Given the description of an element on the screen output the (x, y) to click on. 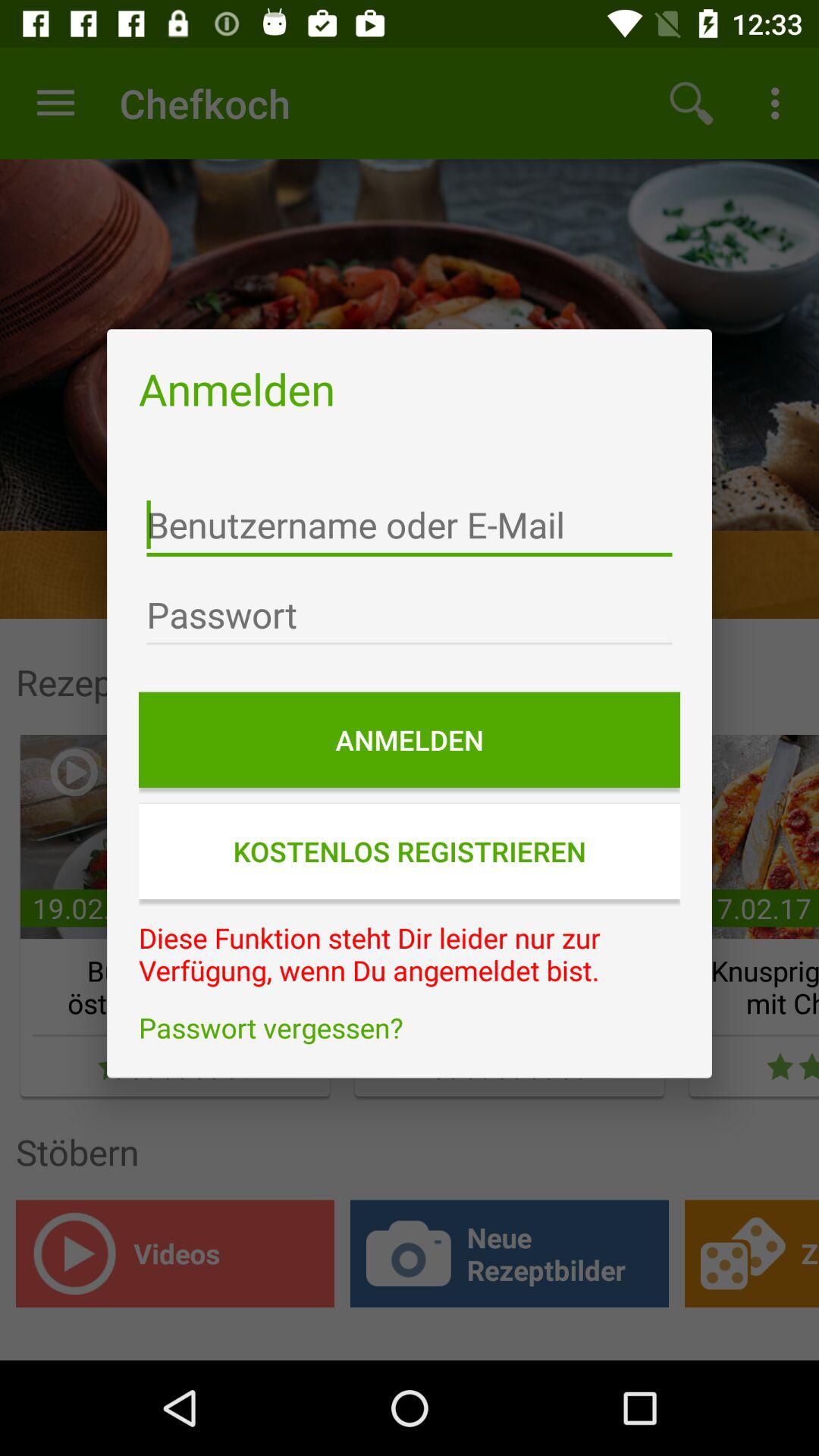
tap the passwort vergessen? icon (409, 1027)
